Given the description of an element on the screen output the (x, y) to click on. 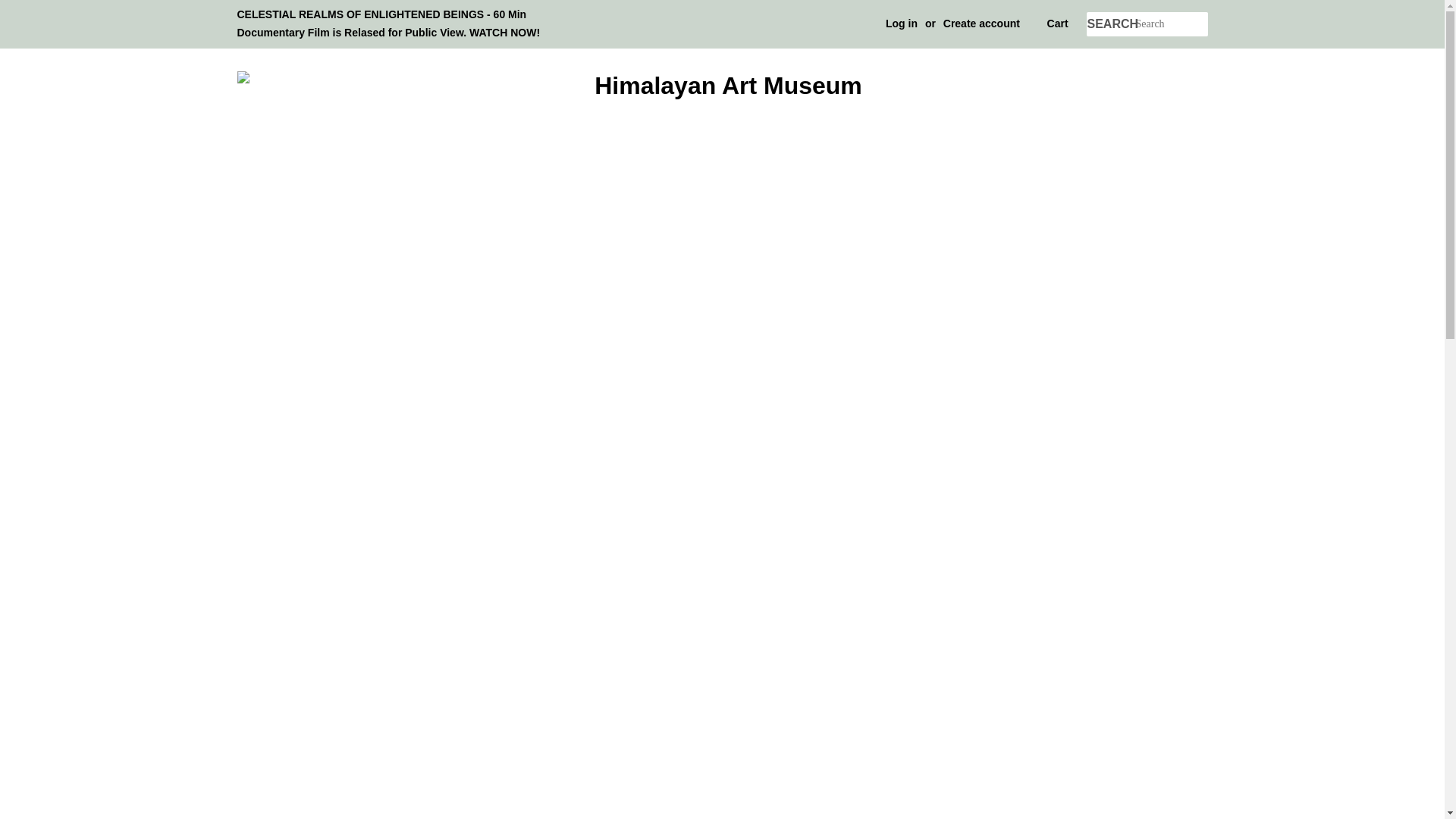
SEARCH (1110, 24)
Create account (981, 23)
Cart (1057, 24)
Log in (901, 23)
